Given the description of an element on the screen output the (x, y) to click on. 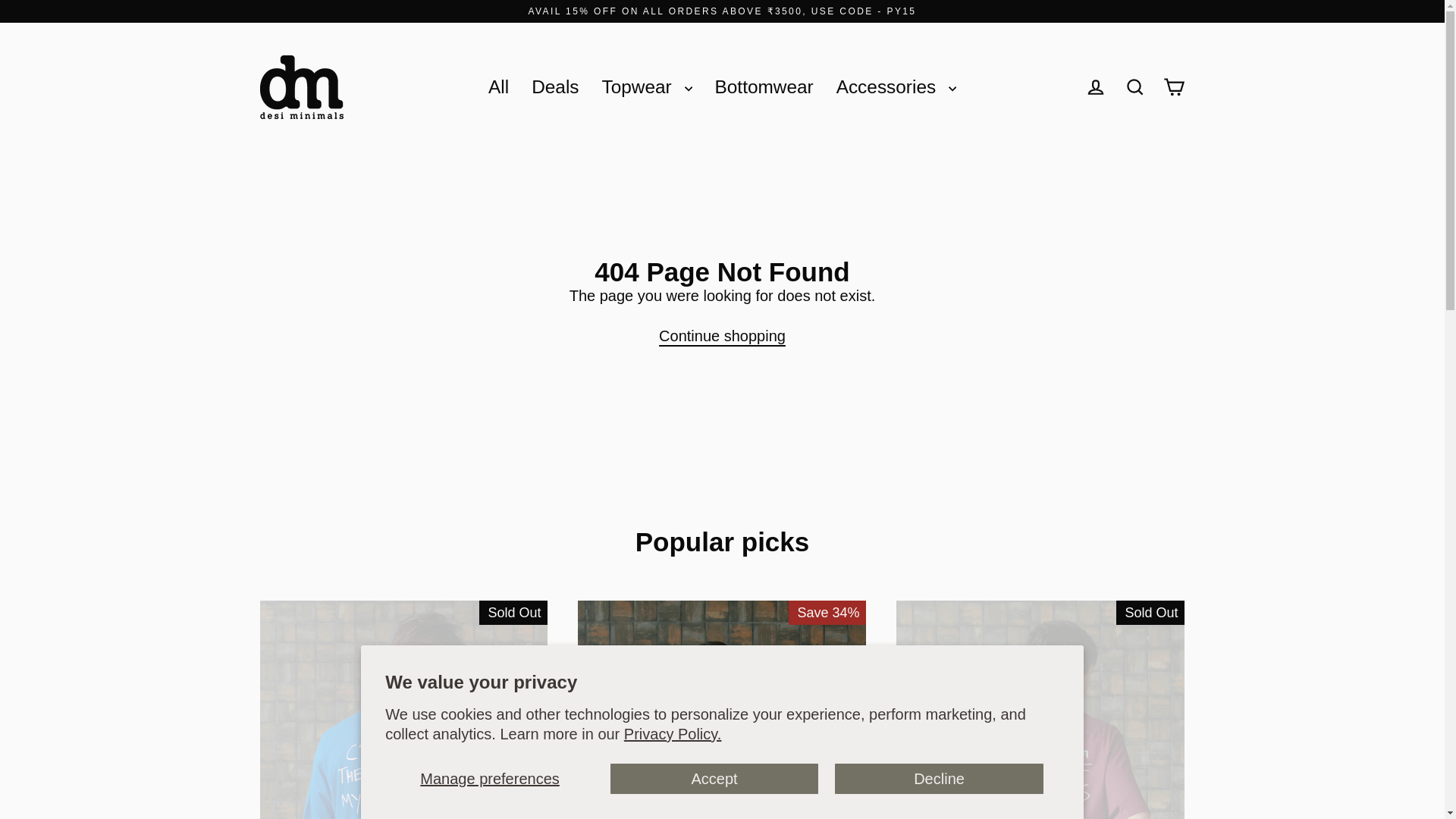
Accept (714, 778)
Manage preferences (489, 778)
Log in (1095, 87)
Search (1134, 87)
All (498, 87)
Bottomwear (764, 87)
Decline (938, 778)
Privacy Policy. (673, 733)
Deals (554, 87)
